Given the description of an element on the screen output the (x, y) to click on. 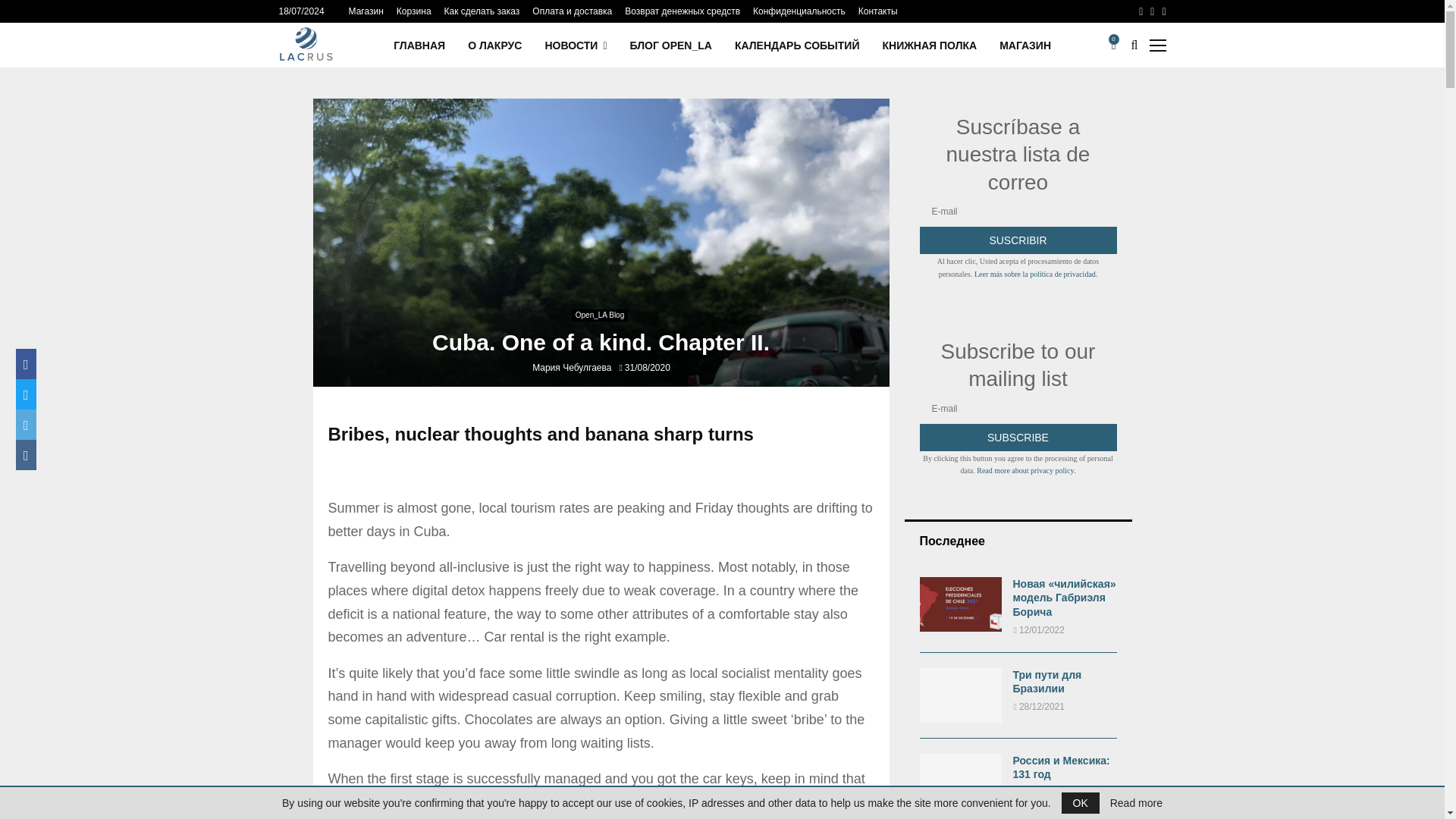
Subscribe (1017, 437)
Vk (1152, 11)
Vk (1152, 11)
Suscribir (1017, 239)
0 (1118, 45)
Youtube (1140, 11)
Youtube (1140, 11)
Telegram (1163, 11)
Telegram (1163, 11)
